Given the description of an element on the screen output the (x, y) to click on. 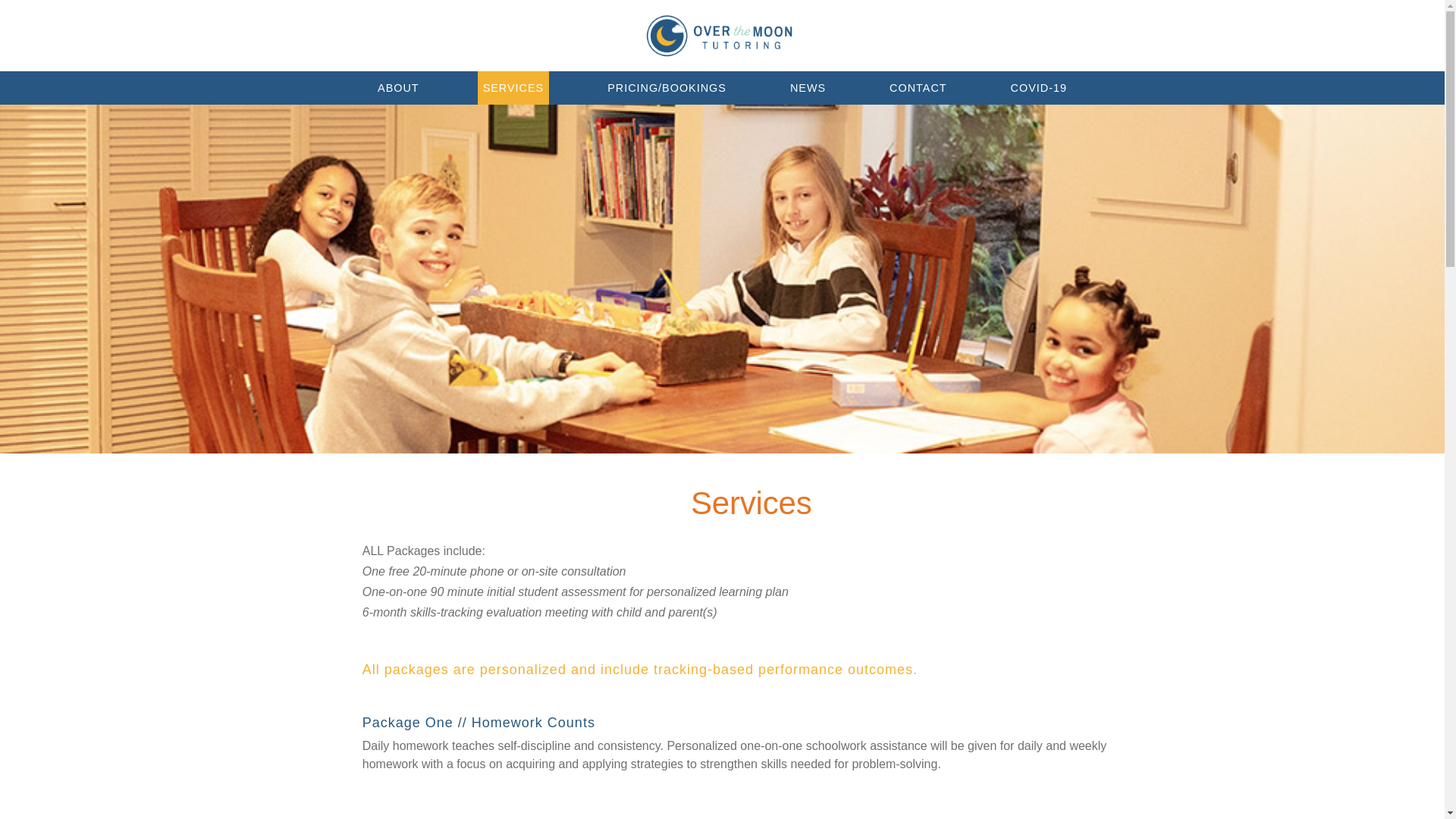
ABOUT (398, 87)
OTM Over The Moon Tutoring Logo (719, 35)
COVID-19 (1038, 87)
NEWS (807, 87)
SERVICES (513, 87)
CONTACT (917, 87)
